Given the description of an element on the screen output the (x, y) to click on. 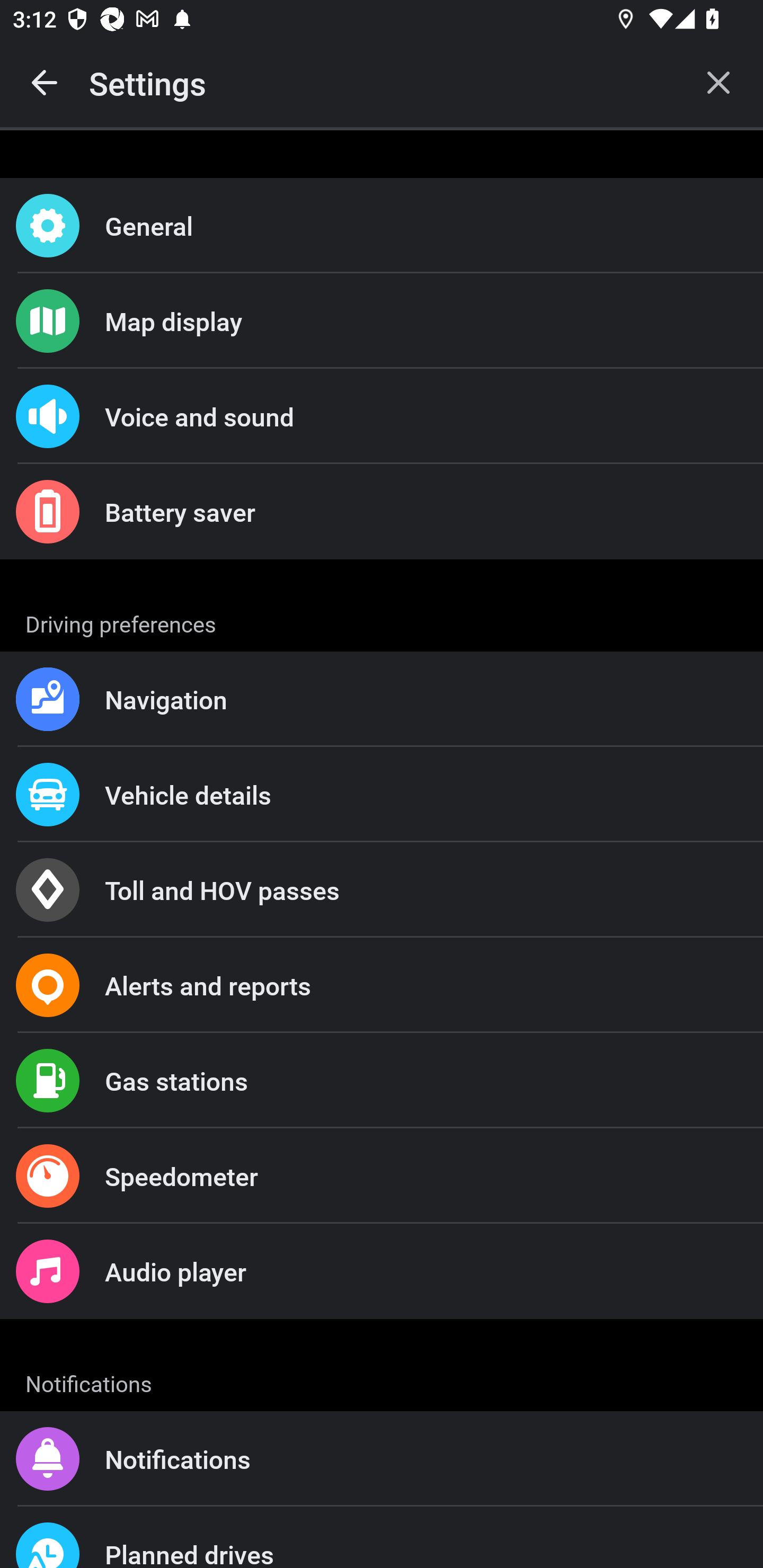
General (381, 225)
Map display (381, 320)
Voice and sound (381, 416)
Battery saver (381, 511)
ACTION_CELL_ICON Settings ACTION_CELL_TEXT (381, 620)
Vehicle details (381, 794)
ACTION_CELL_ICON Shut off ACTION_CELL_TEXT (381, 891)
Alerts and reports (381, 985)
Gas stations (381, 1080)
Speedometer (381, 1175)
Audio player (381, 1270)
Notifications (381, 1458)
Planned drives (381, 1537)
